Given the description of an element on the screen output the (x, y) to click on. 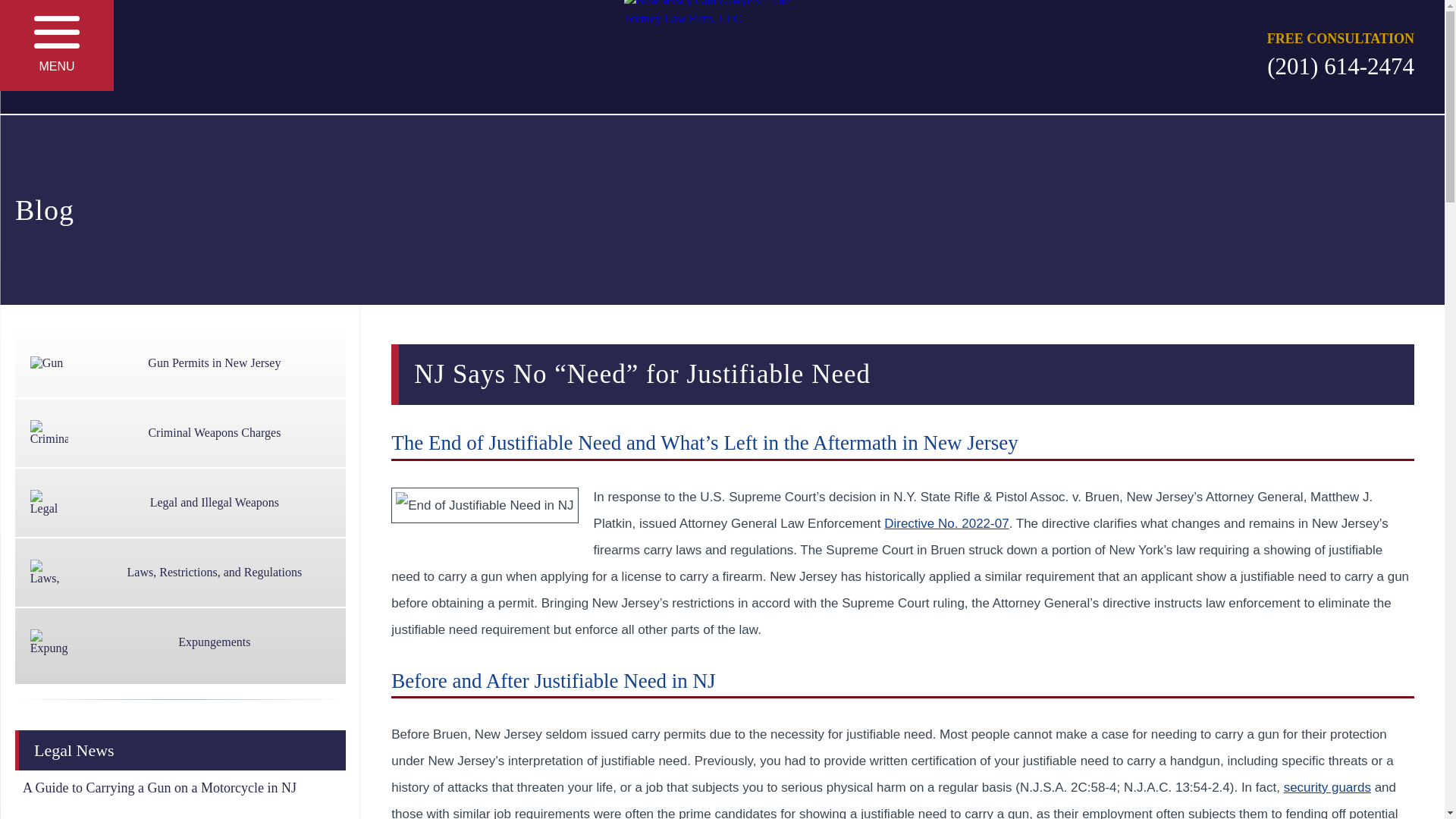
Criminal Weapons Charges (180, 432)
Legal and Illegal Weapons (180, 502)
Gun Permits in New Jersey (180, 363)
